Given the description of an element on the screen output the (x, y) to click on. 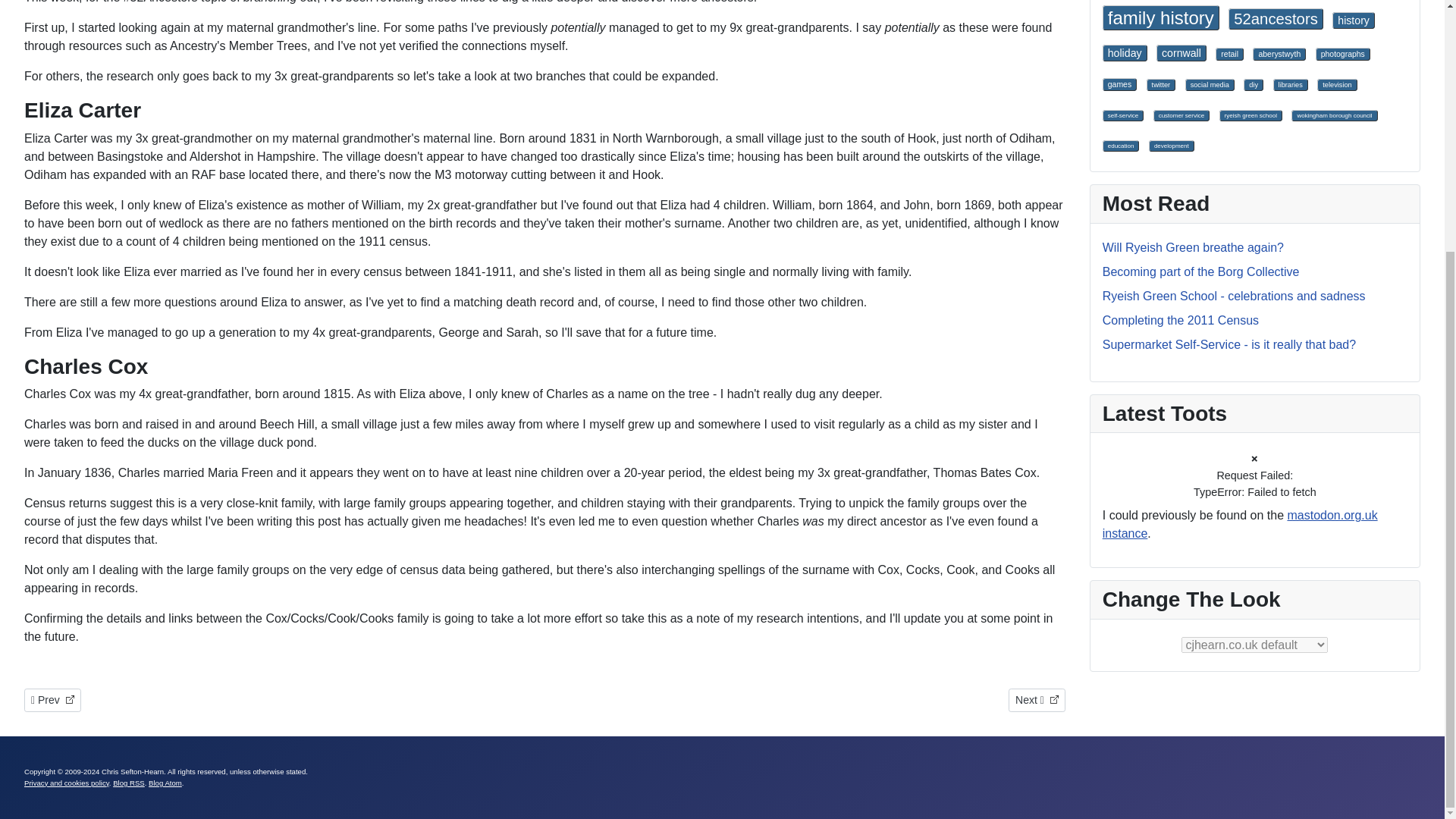
52ancestors (1275, 18)
twitter (1161, 84)
aberystwyth (1279, 53)
games (1119, 83)
holiday (1124, 53)
libraries (1289, 84)
family history (1161, 17)
cornwall (1181, 53)
retail (1037, 699)
diy (52, 699)
photographs (1229, 53)
social media (1253, 84)
television (1343, 53)
